Given the description of an element on the screen output the (x, y) to click on. 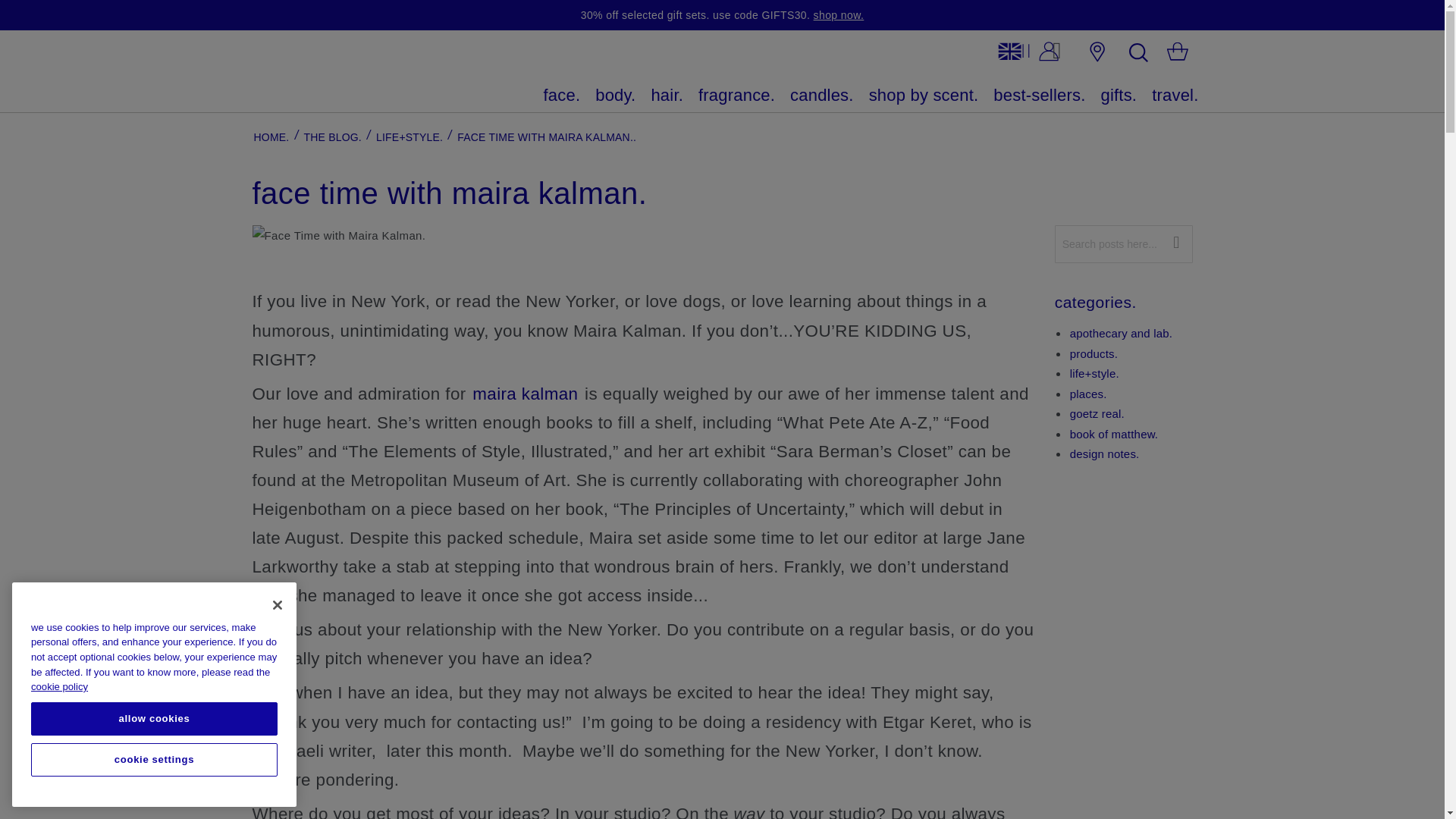
Go to Home Page (270, 136)
body. (615, 94)
apothecary and lab. (1121, 332)
products. (1093, 353)
shop now. (838, 15)
design notes.  (1104, 453)
face. (561, 94)
the blog. (331, 136)
places. (1088, 393)
goetz real. (1096, 413)
